Given the description of an element on the screen output the (x, y) to click on. 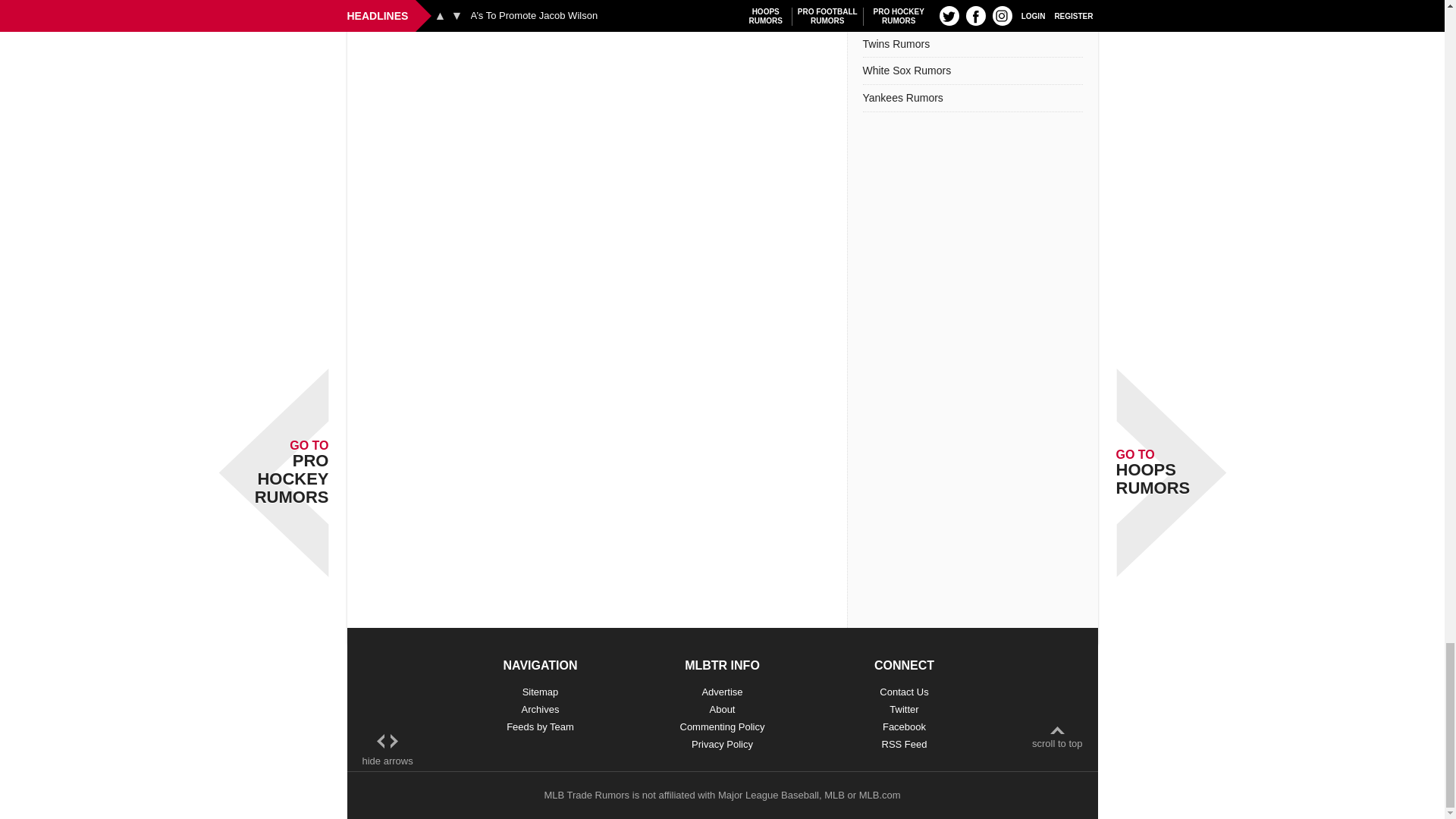
MLB Trade Rumors (585, 794)
